Given the description of an element on the screen output the (x, y) to click on. 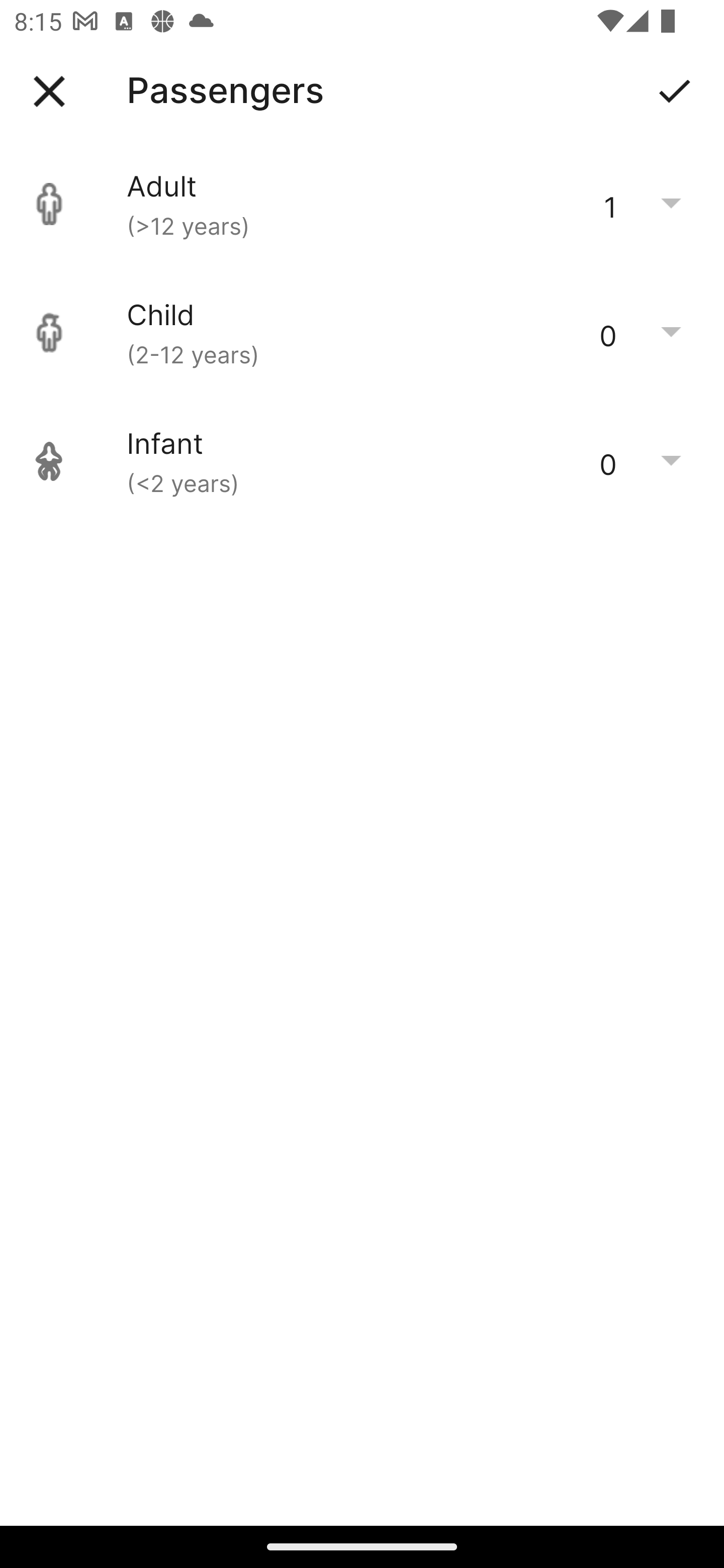
Adult (>12 years) 1 (362, 204)
Child (2-12 years) 0 (362, 332)
Infant (<2 years) 0 (362, 461)
